Given the description of an element on the screen output the (x, y) to click on. 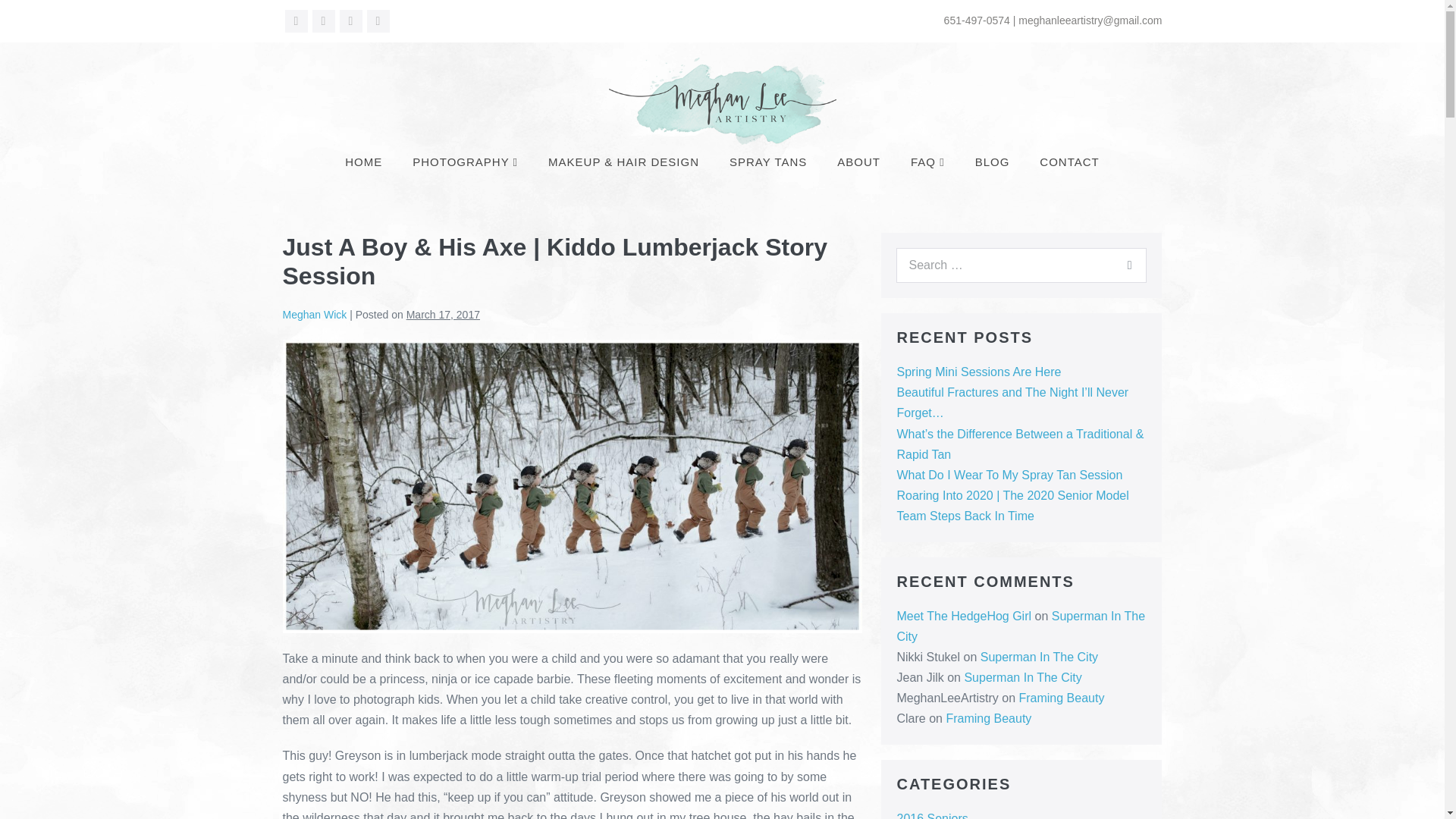
HOME (363, 162)
CONTACT (1069, 162)
Instagram (350, 20)
Meghan Lee Artistry, LLC (721, 100)
FAQ (927, 162)
LinkedIn (378, 20)
Press enter to search (1021, 265)
Pinterest (323, 20)
PHOTOGRAPHY (464, 162)
SPRAY TANS (768, 162)
